Given the description of an element on the screen output the (x, y) to click on. 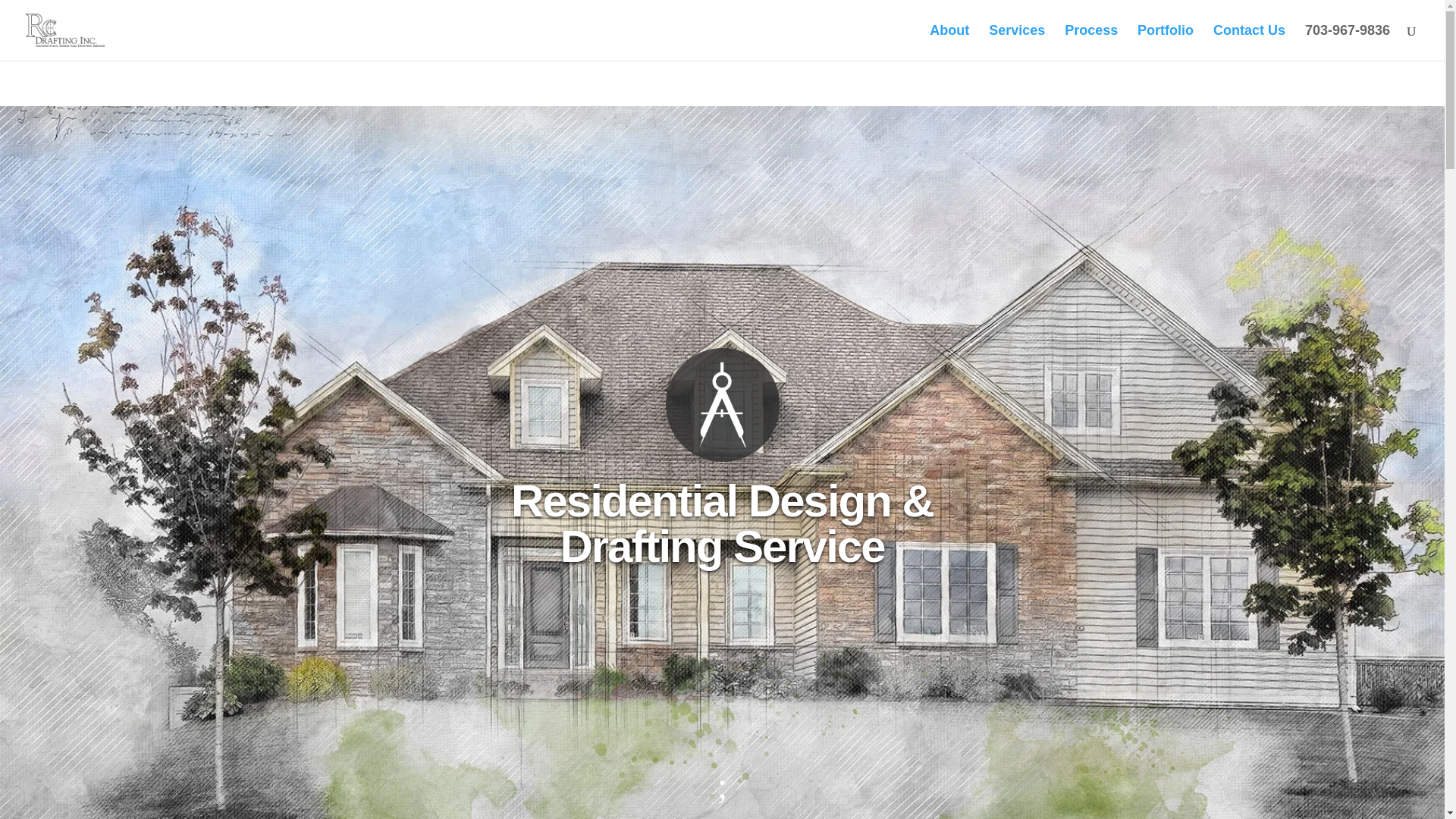
Portfolio (1165, 42)
Services (1016, 42)
Contact Us (1248, 42)
703-967-9836 (1347, 42)
Process (1091, 42)
About (949, 42)
